Given the description of an element on the screen output the (x, y) to click on. 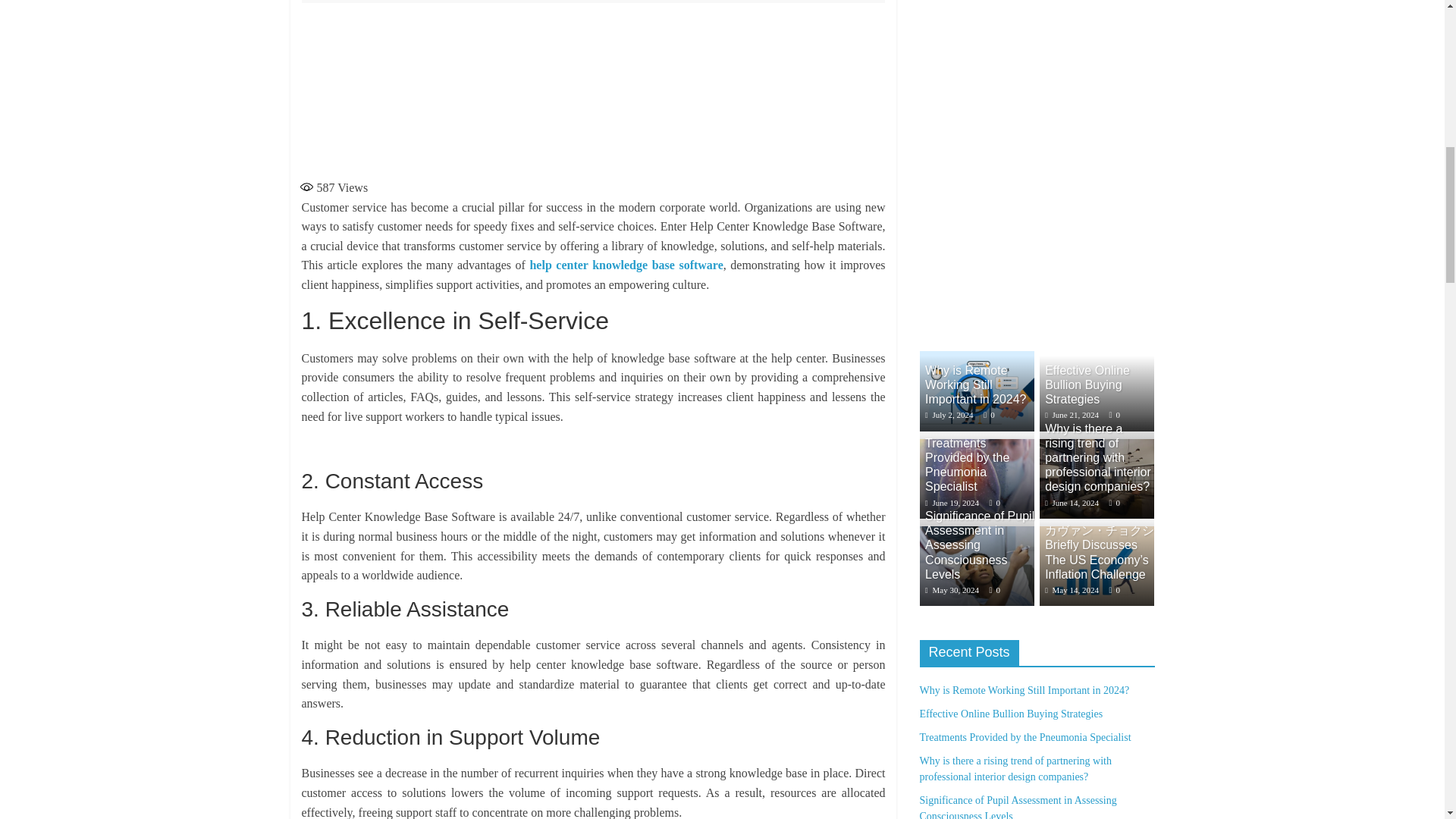
Why is Remote Working Still Important in 2024? (975, 358)
Advertisement (593, 87)
Why is Remote Working Still Important in 2024? (975, 384)
5:16 am (949, 414)
July 2, 2024 (949, 414)
Why is Remote Working Still Important in 2024? (975, 390)
8:24 am (1072, 414)
Effective Online Bullion Buying Strategies  (1087, 384)
help center knowledge base software (625, 264)
Treatments Provided by the Pneumonia Specialist (966, 464)
June 19, 2024 (951, 501)
June 21, 2024 (1072, 414)
Why is Remote Working Still Important in 2024? (975, 384)
